Given the description of an element on the screen output the (x, y) to click on. 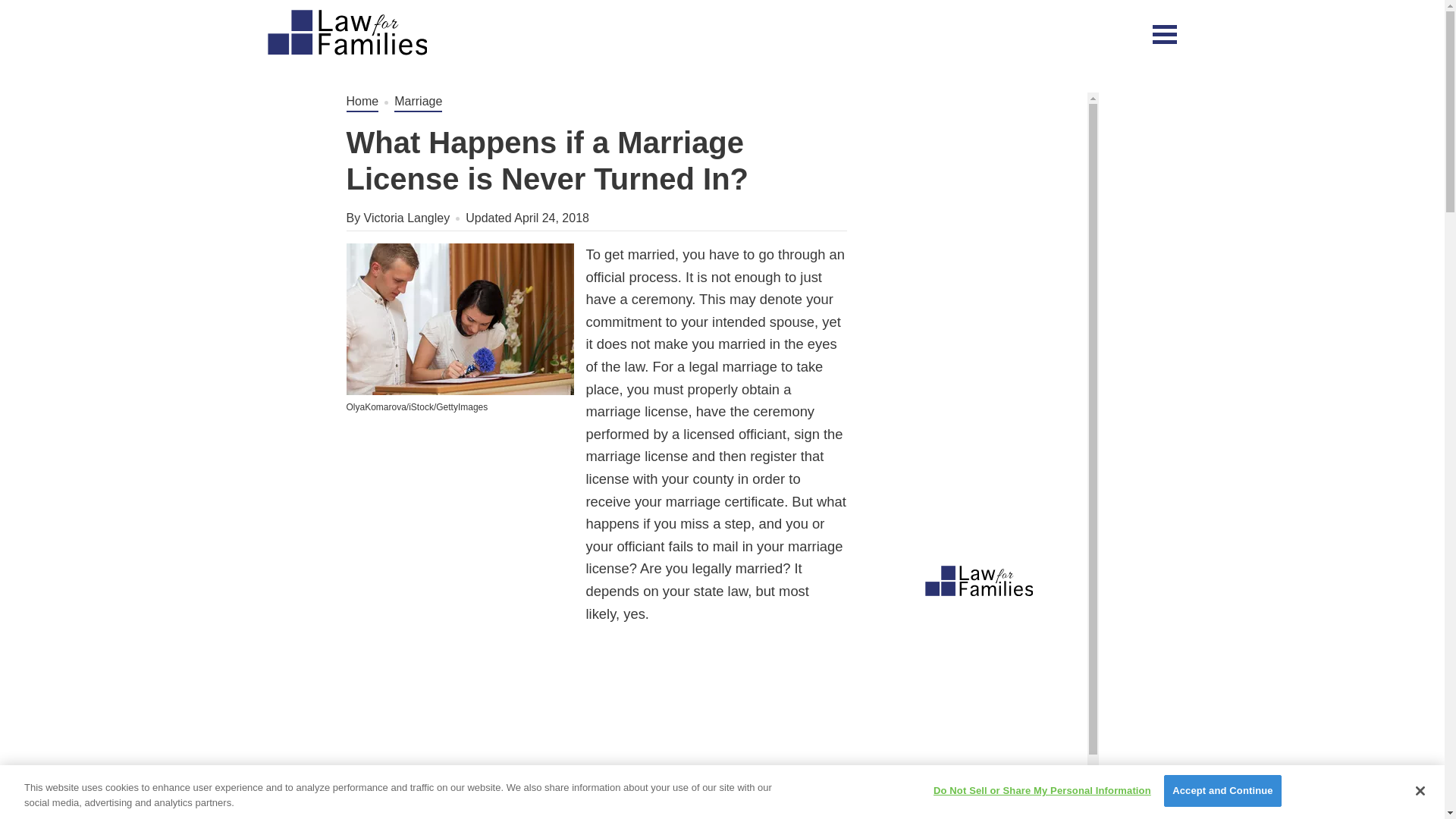
Advertisement (595, 735)
3rd party ad content (789, 33)
Accept and Continue (1222, 790)
Home (362, 102)
3rd party ad content (983, 706)
3rd party ad content (459, 532)
Group 2 Created with Sketch. (346, 32)
Marriage (418, 102)
3rd party ad content (983, 186)
Group 2 Created with Sketch. (346, 33)
Do Not Sell or Share My Personal Information (1042, 790)
